Given the description of an element on the screen output the (x, y) to click on. 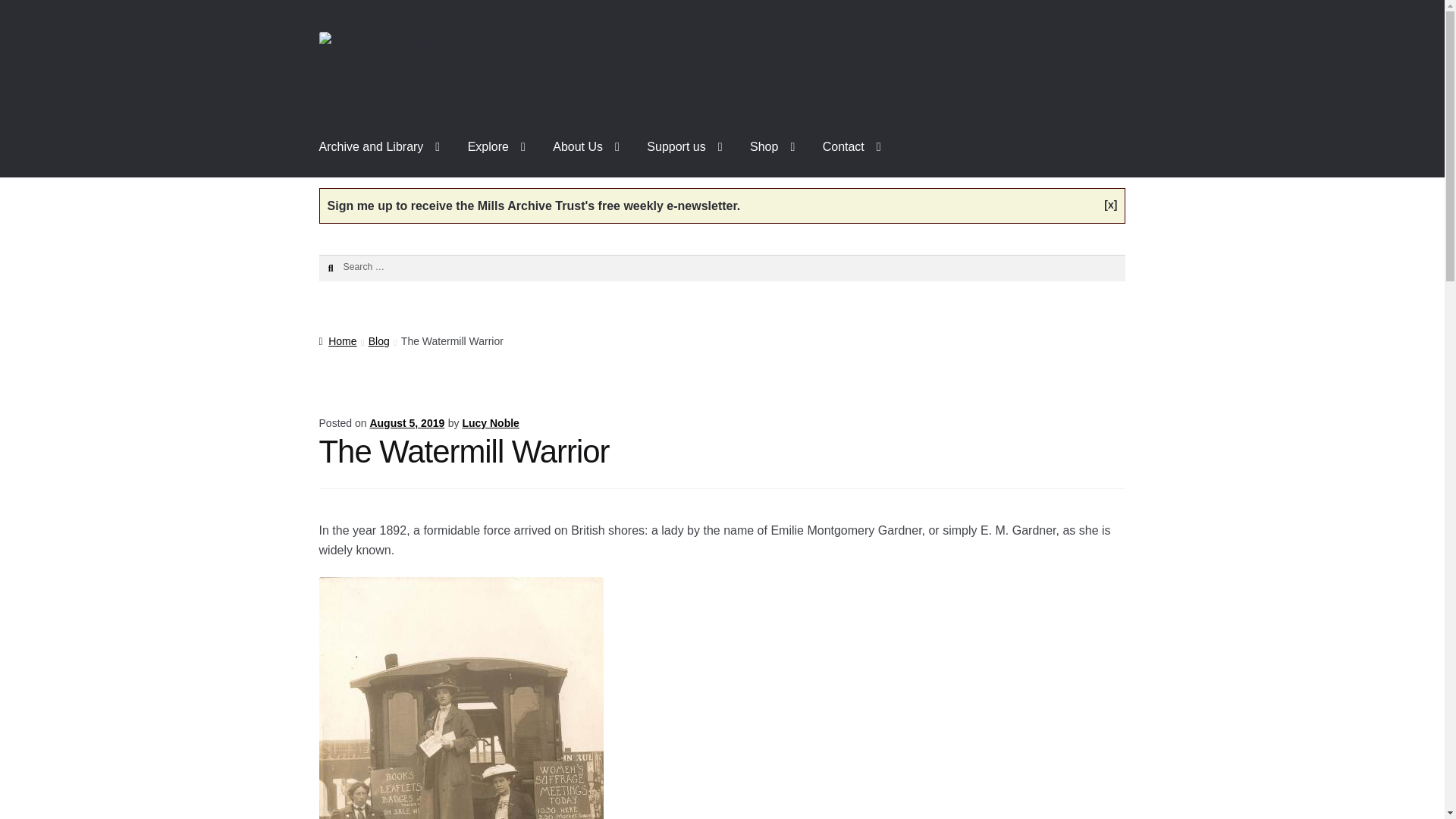
Archive and Library (379, 146)
Explore (496, 146)
